Given the description of an element on the screen output the (x, y) to click on. 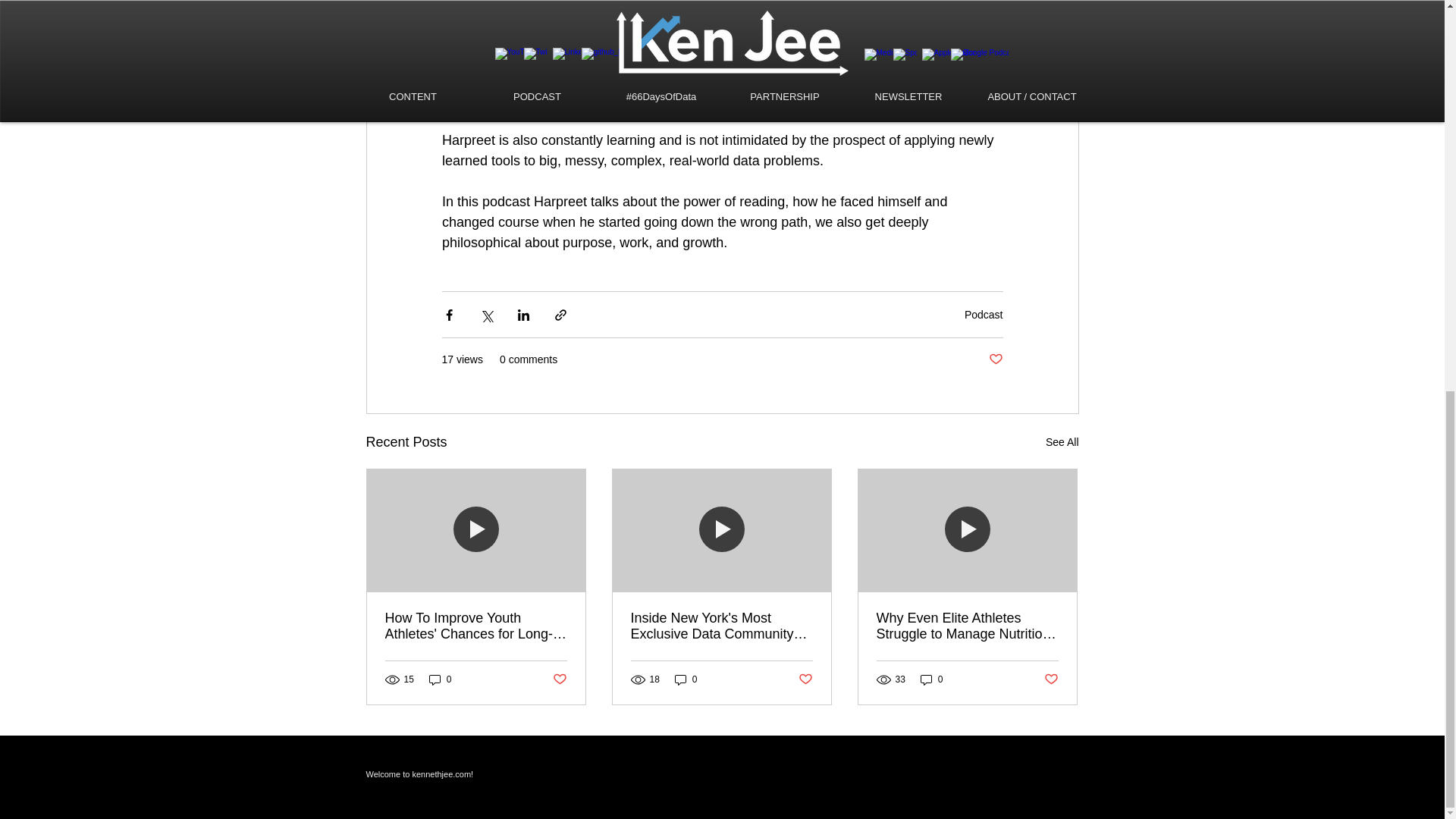
0 (931, 679)
See All (1061, 442)
Post not marked as liked (1050, 679)
Post not marked as liked (804, 679)
Post not marked as liked (995, 359)
Post not marked as liked (558, 679)
Podcast (983, 314)
0 (685, 679)
0 (440, 679)
